Given the description of an element on the screen output the (x, y) to click on. 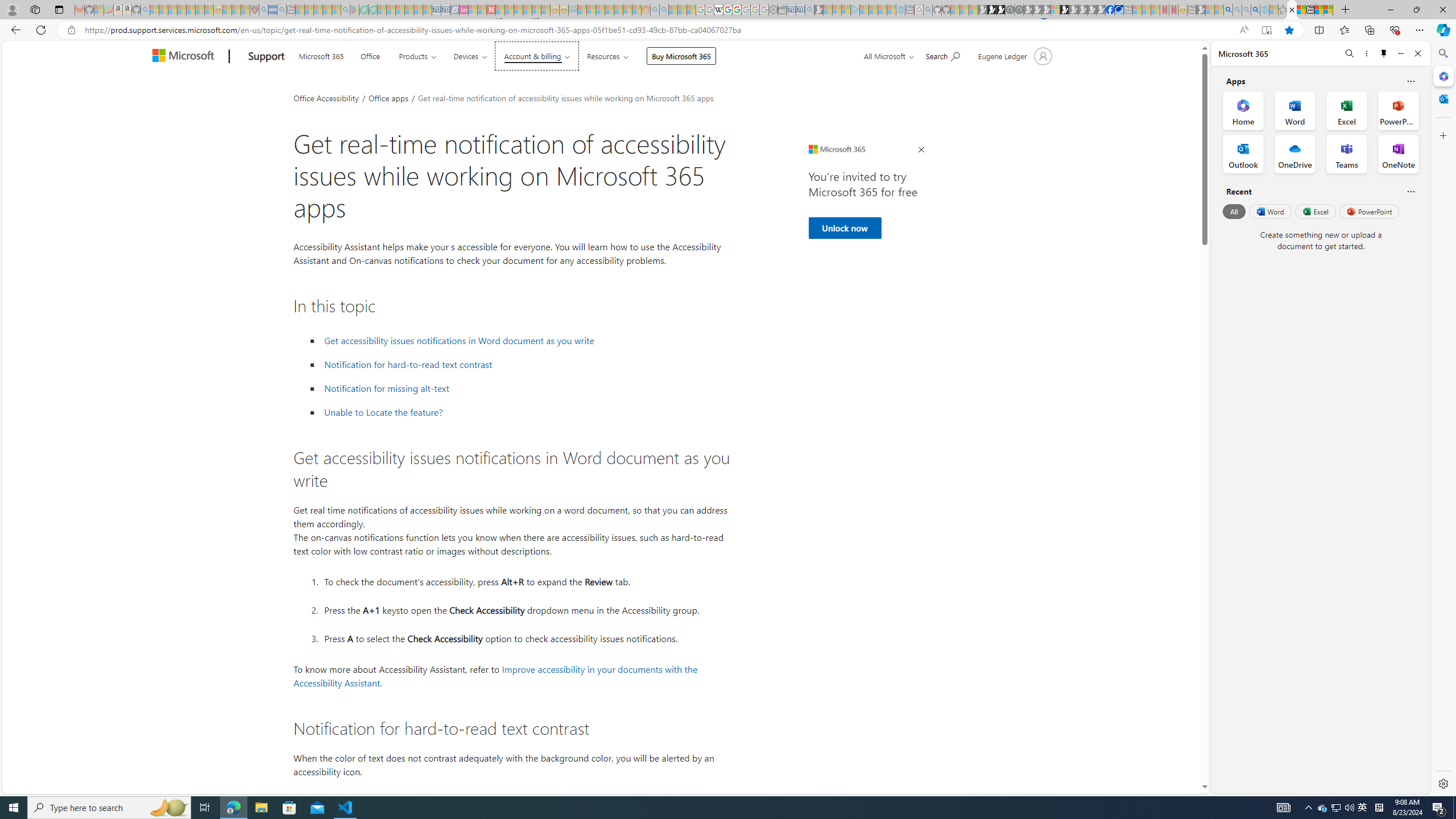
Recipes - MSN - Sleeping (226, 9)
 Notification for hard-to-read text contrast (408, 364)
google - Search - Sleeping (345, 9)
Cheap Car Rentals - Save70.com - Sleeping (799, 9)
Unpin side pane (1383, 53)
Expert Portfolios - Sleeping (608, 9)
Kinda Frugal - MSN - Sleeping (617, 9)
Terms of Use Agreement - Sleeping (362, 9)
Home Office App (1243, 110)
Wallet - Sleeping (782, 9)
